Given the description of an element on the screen output the (x, y) to click on. 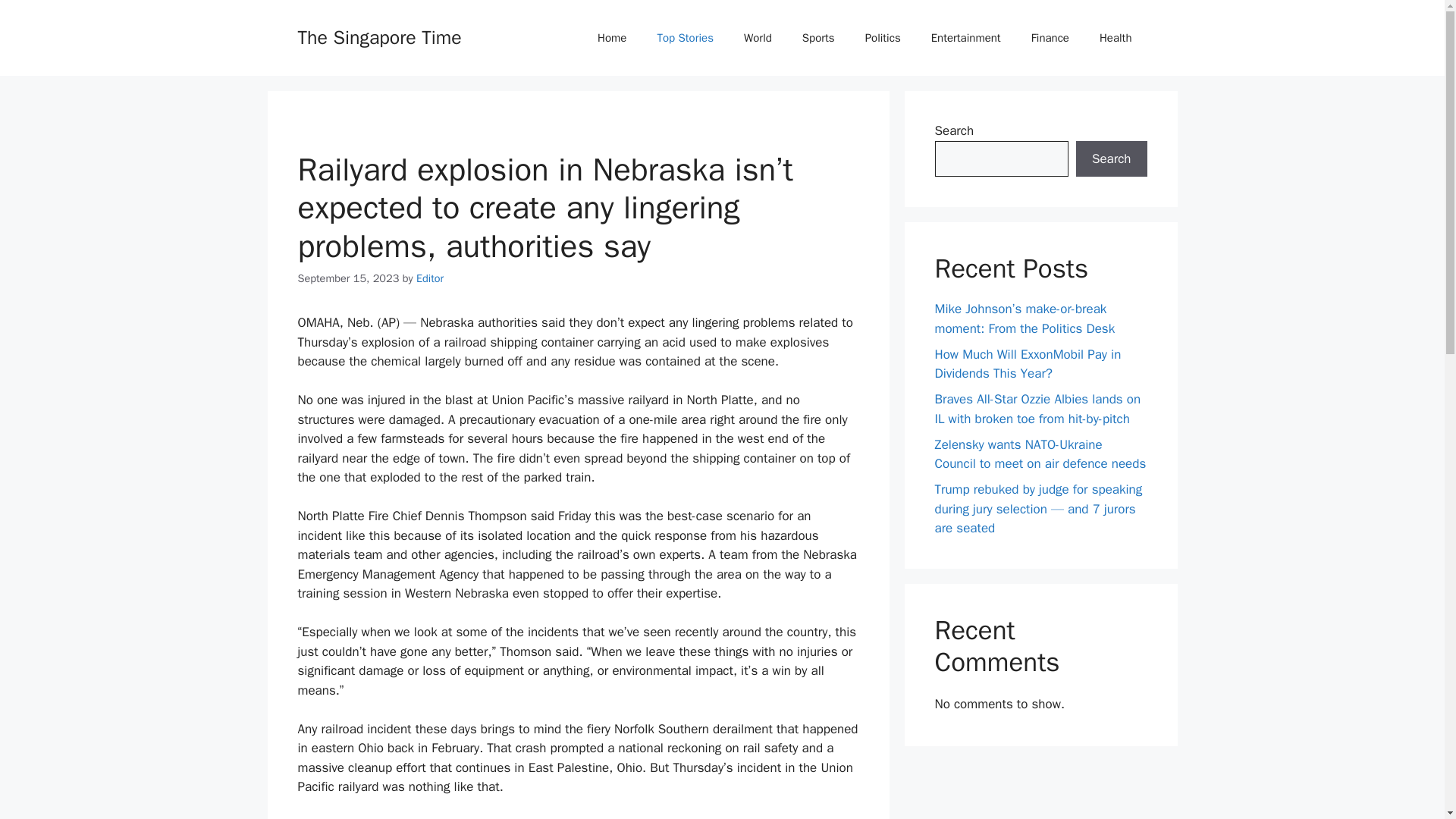
Search (1111, 158)
View all posts by Editor (430, 278)
Politics (882, 37)
Top Stories (685, 37)
Sports (818, 37)
Editor (430, 278)
Finance (1050, 37)
Health (1115, 37)
